Given the description of an element on the screen output the (x, y) to click on. 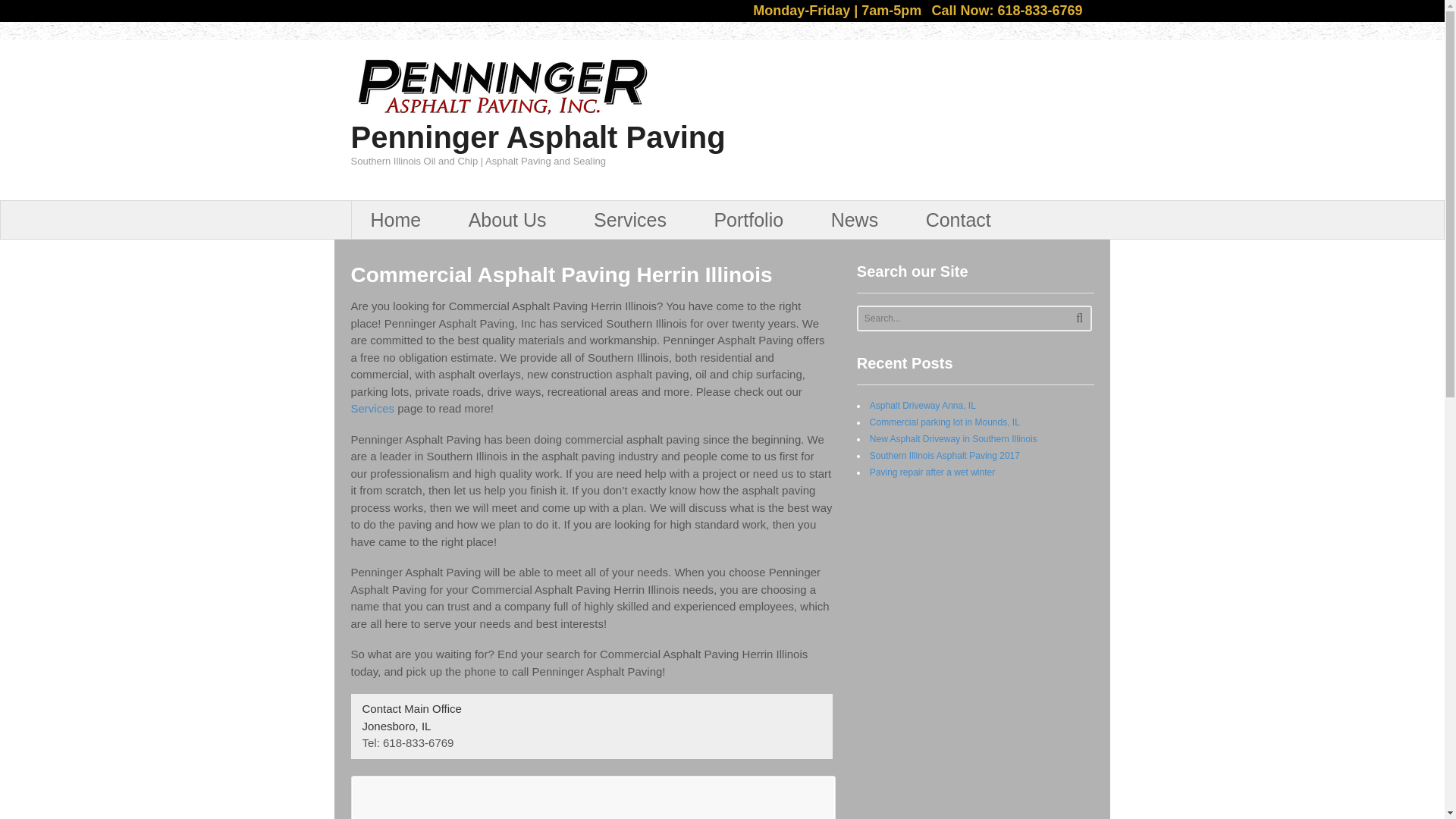
Search... (963, 318)
News (859, 219)
Contact (963, 219)
Penninger Asphalt Paving (537, 136)
Asphalt Driveway Anna, IL (922, 405)
Search (1079, 317)
Services (634, 219)
Portfolio (752, 219)
Paving repair after a wet winter (931, 471)
Call Now: 618-833-6769 (1006, 11)
Commercial parking lot in Mounds, IL (944, 421)
Services (372, 408)
Southern Illinois Asphalt Paving 2017 (944, 455)
About Us (512, 219)
